Given the description of an element on the screen output the (x, y) to click on. 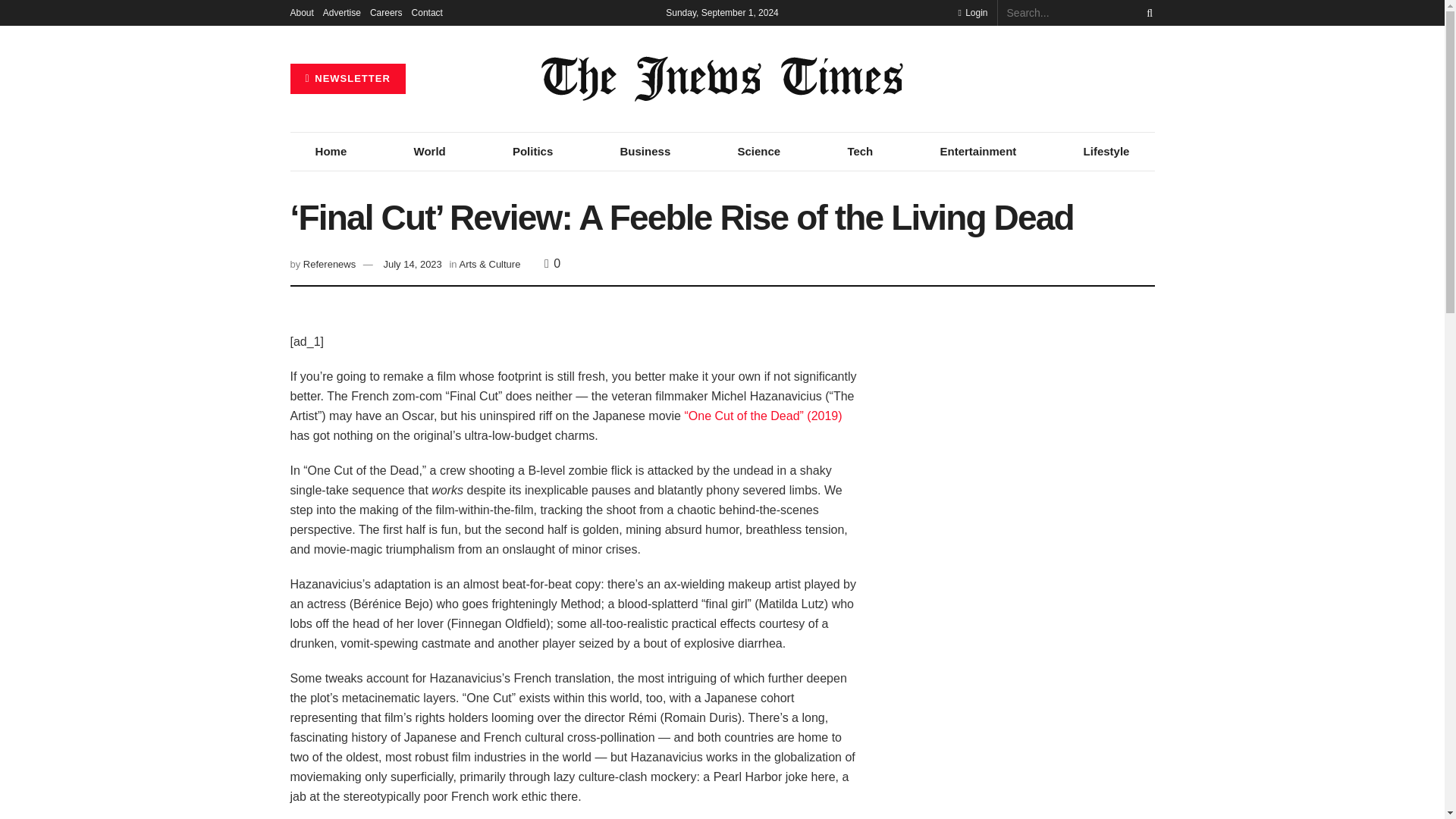
Advertise (342, 12)
About (301, 12)
World (429, 151)
Entertainment (977, 151)
Login (972, 12)
Business (644, 151)
Home (330, 151)
Tech (860, 151)
NEWSLETTER (346, 78)
Science (758, 151)
